Given the description of an element on the screen output the (x, y) to click on. 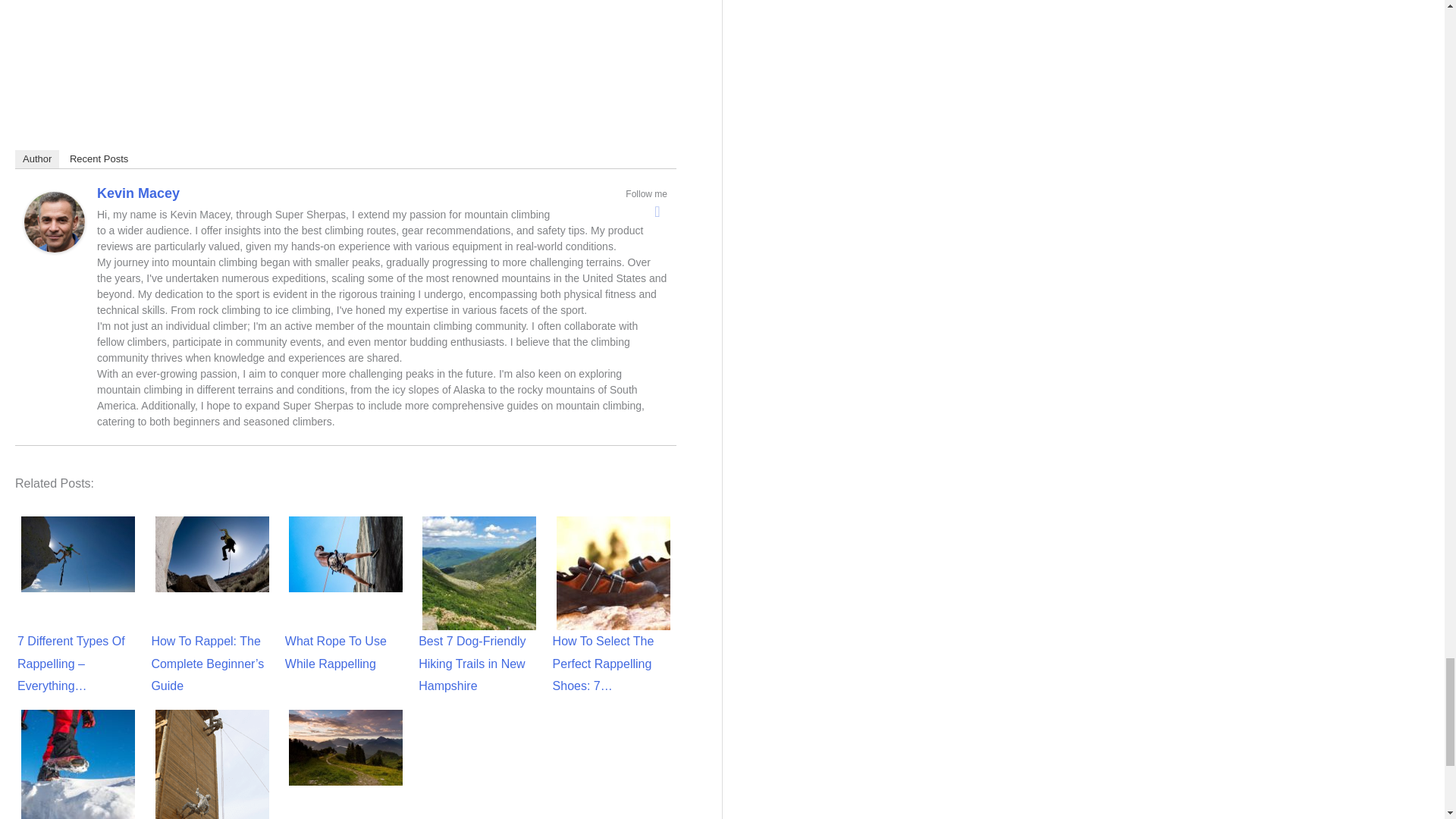
Kevin Macey (54, 220)
Recent Posts (98, 158)
Best Crampons on the Market (78, 764)
Best 7 Dog-Friendly Hiking Trails in New Hampshire (478, 572)
Author (36, 158)
Kevin Macey (138, 192)
Facebook (656, 211)
Best Crampons on the Market (77, 763)
What Rope To Use While Rappelling (345, 554)
How To Make A DIY Rappelling Tower: Top 10 Tips (212, 764)
